Given the description of an element on the screen output the (x, y) to click on. 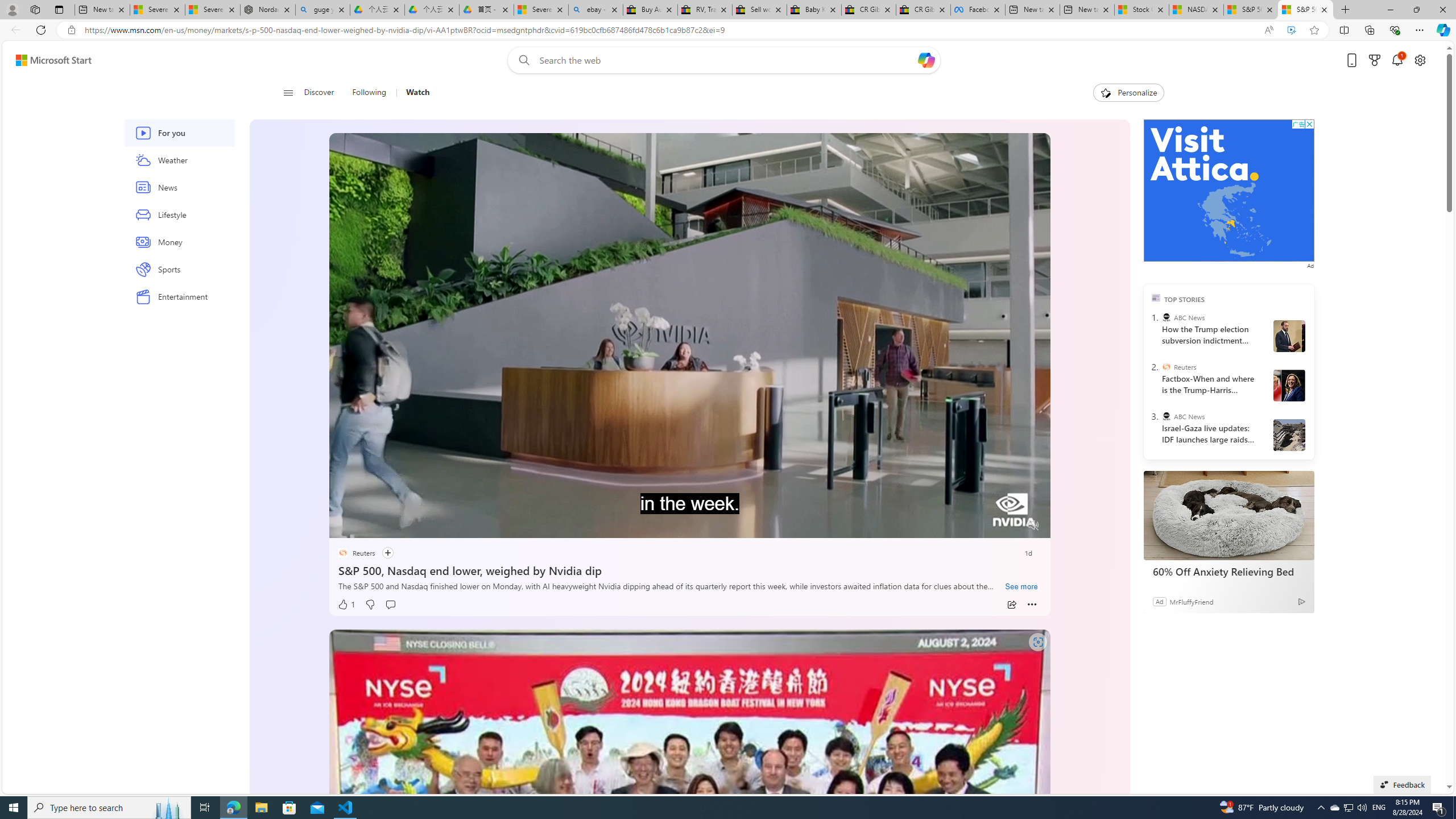
Progress Bar (689, 510)
Microsoft rewards (1374, 60)
Open settings (1420, 60)
60% Off Anxiety Relieving Bed (1228, 515)
Fullscreen (1011, 525)
More (1031, 604)
To get missing image descriptions, open the context menu. (368, 524)
Facebook (978, 9)
MrFluffyFriend (1190, 601)
